Given the description of an element on the screen output the (x, y) to click on. 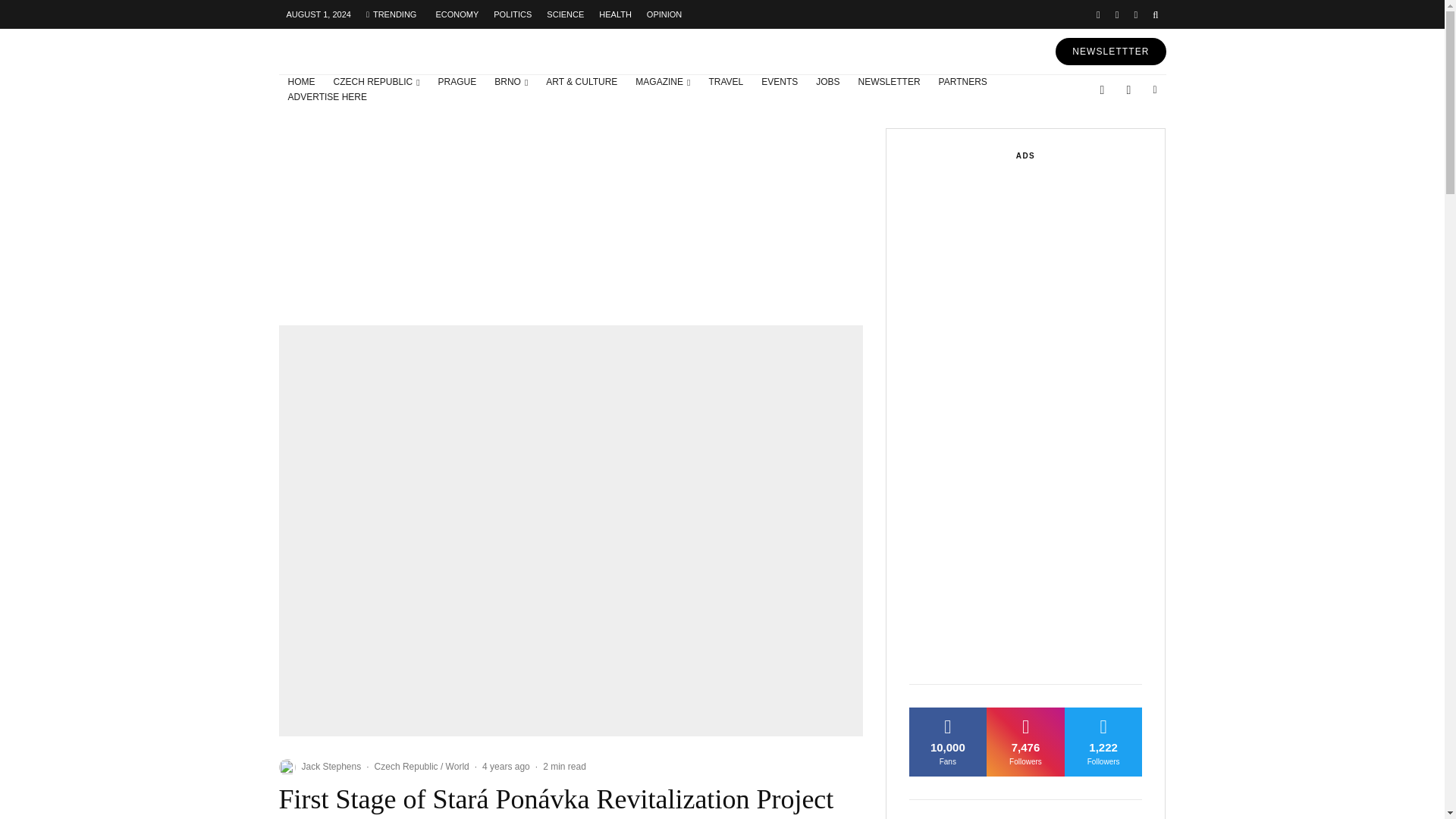
PRAGUE (457, 82)
SCIENCE (564, 14)
CZECH REPUBLIC (376, 82)
OPINION (663, 14)
HOME (301, 82)
NEWSLETTTER (1110, 51)
TRENDING (390, 14)
HEALTH (615, 14)
POLITICS (512, 14)
ECONOMY (457, 14)
